Given the description of an element on the screen output the (x, y) to click on. 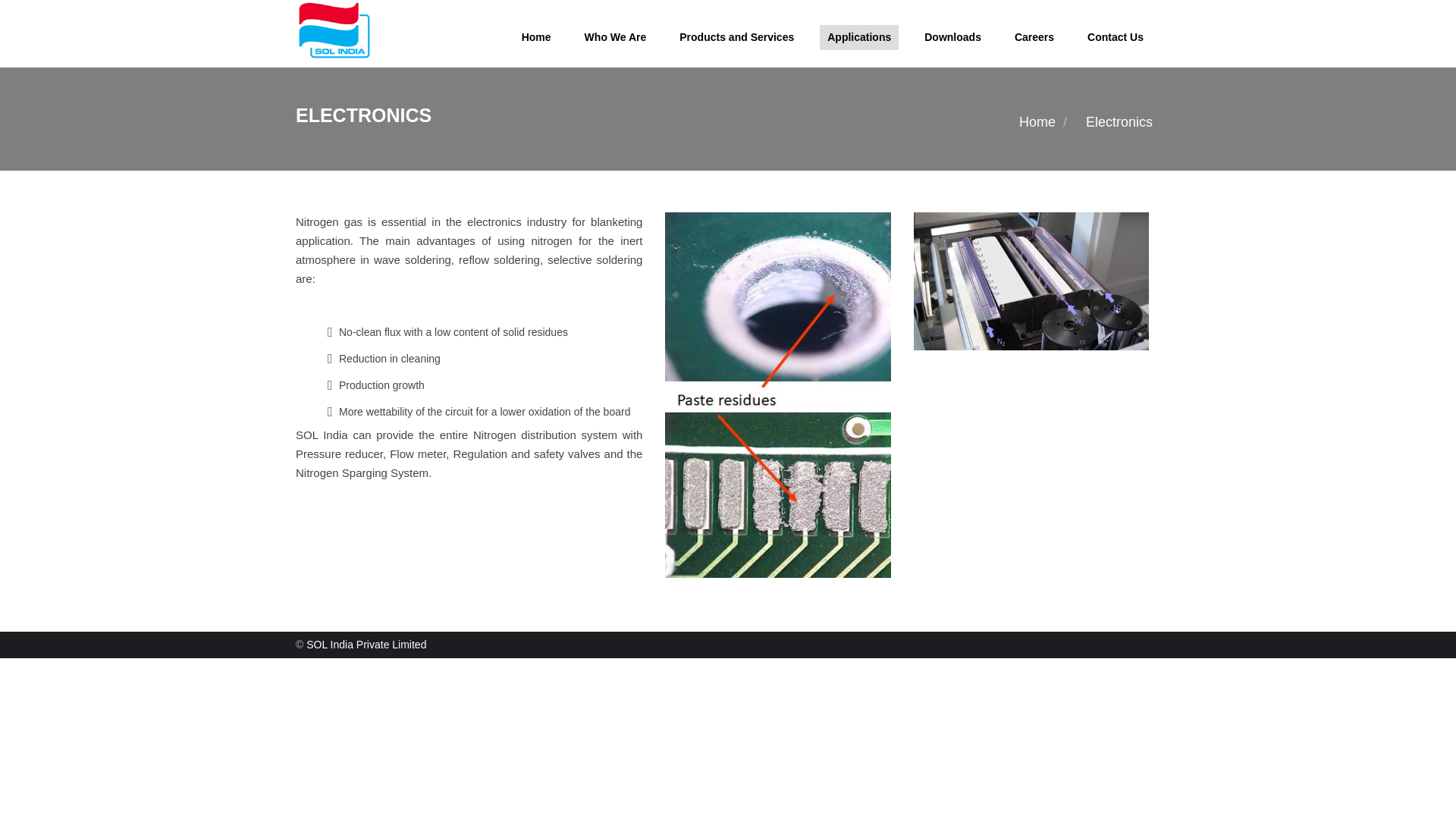
Electronics 1 (777, 395)
Search (1147, 107)
